Given the description of an element on the screen output the (x, y) to click on. 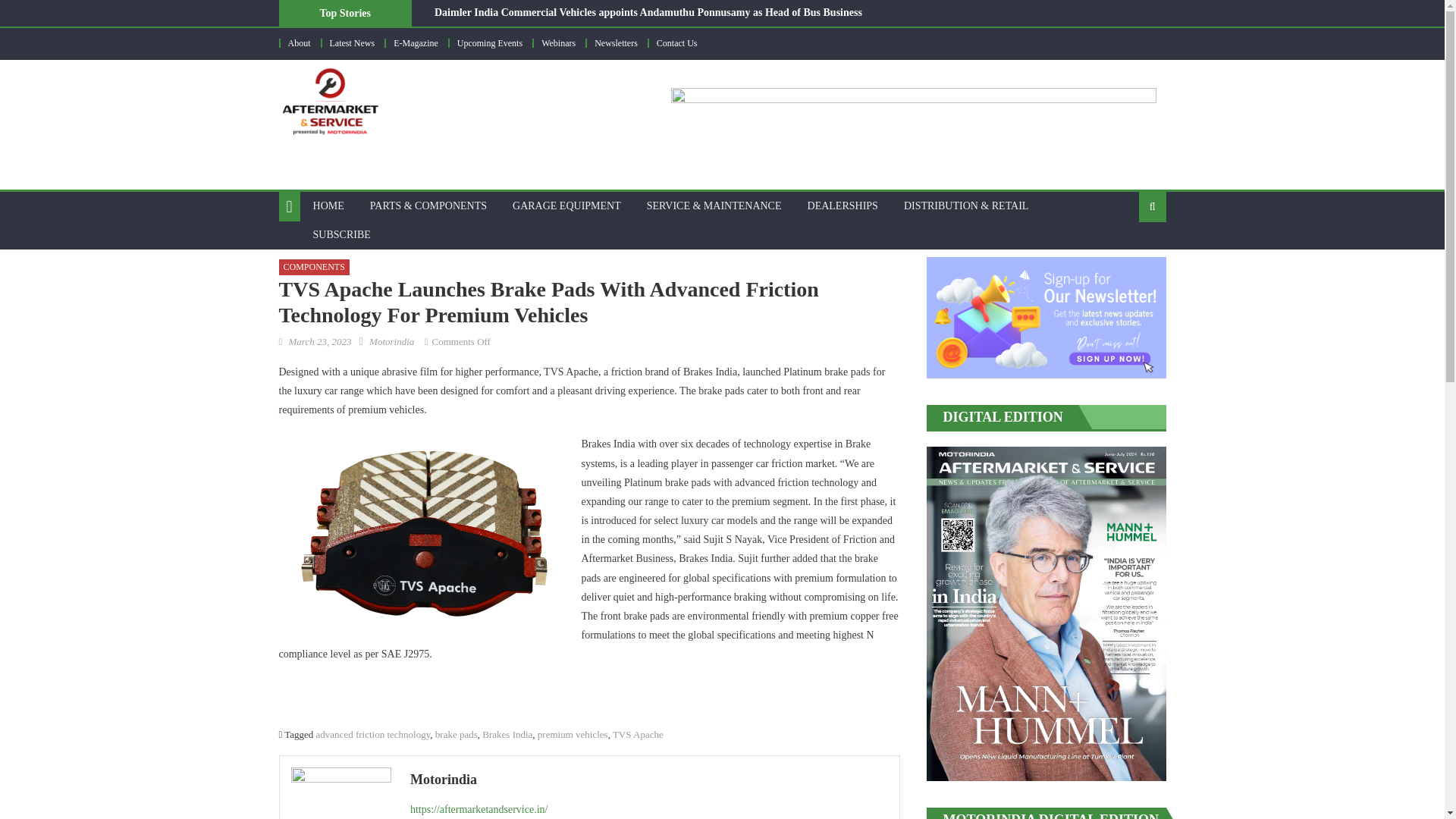
TVS Apache (637, 734)
Search (1128, 255)
March 23, 2023 (319, 341)
Upcoming Events (489, 42)
COMPONENTS (314, 267)
Motorindia (649, 779)
Webinars (558, 42)
About (299, 42)
HOME (328, 205)
premium vehicles (572, 734)
DEALERSHIPS (842, 205)
Latest News (351, 42)
GARAGE EQUIPMENT (565, 205)
E-Magazine (415, 42)
Brakes India (506, 734)
